Given the description of an element on the screen output the (x, y) to click on. 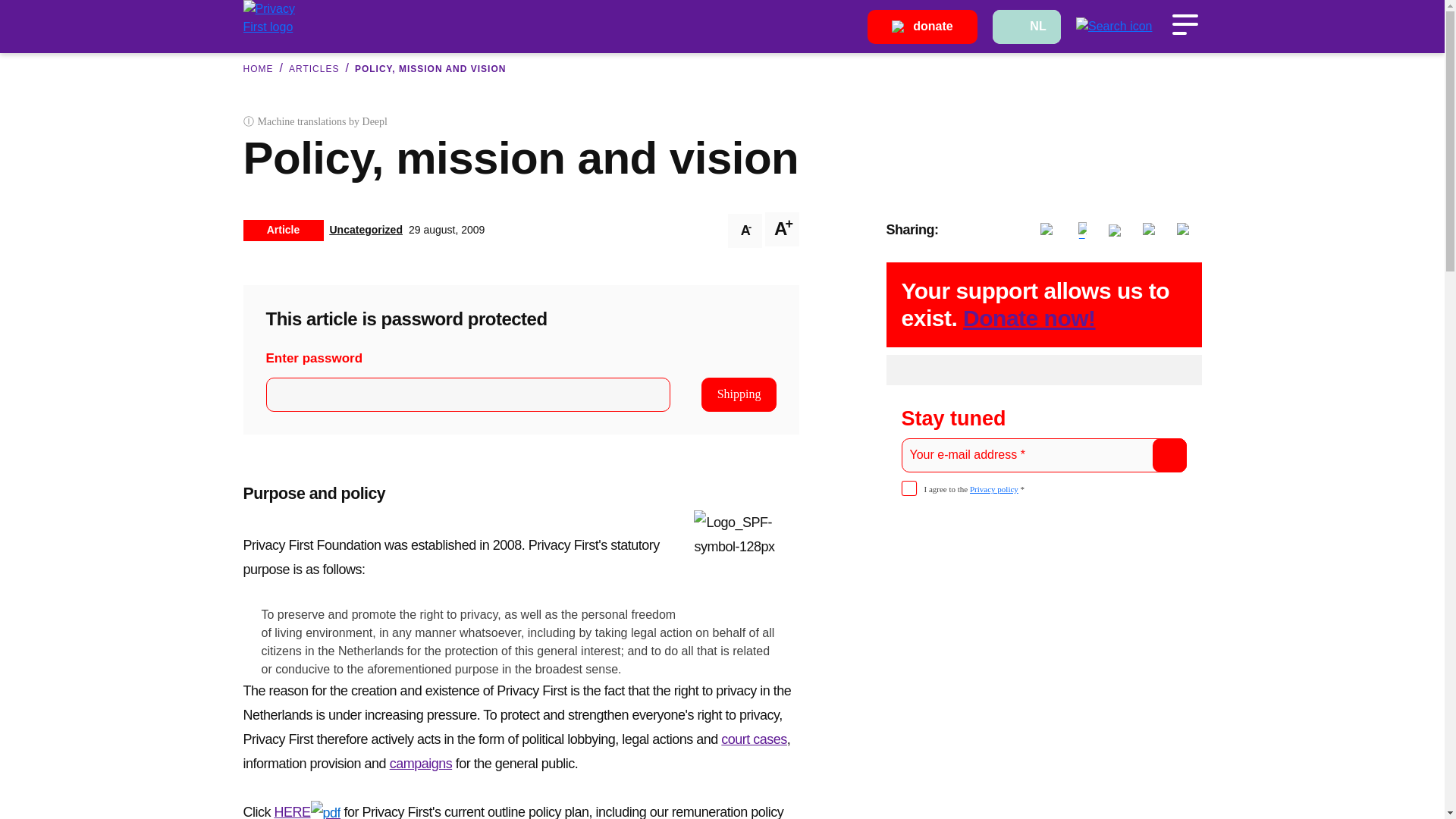
HOME (258, 68)
POLICY, MISSION AND VISION (430, 68)
Shipping (739, 394)
Uncategorized (365, 229)
A- (744, 230)
HERE (307, 811)
Donate (921, 26)
Open menu (1184, 24)
donate (921, 26)
Search (1114, 26)
